Given the description of an element on the screen output the (x, y) to click on. 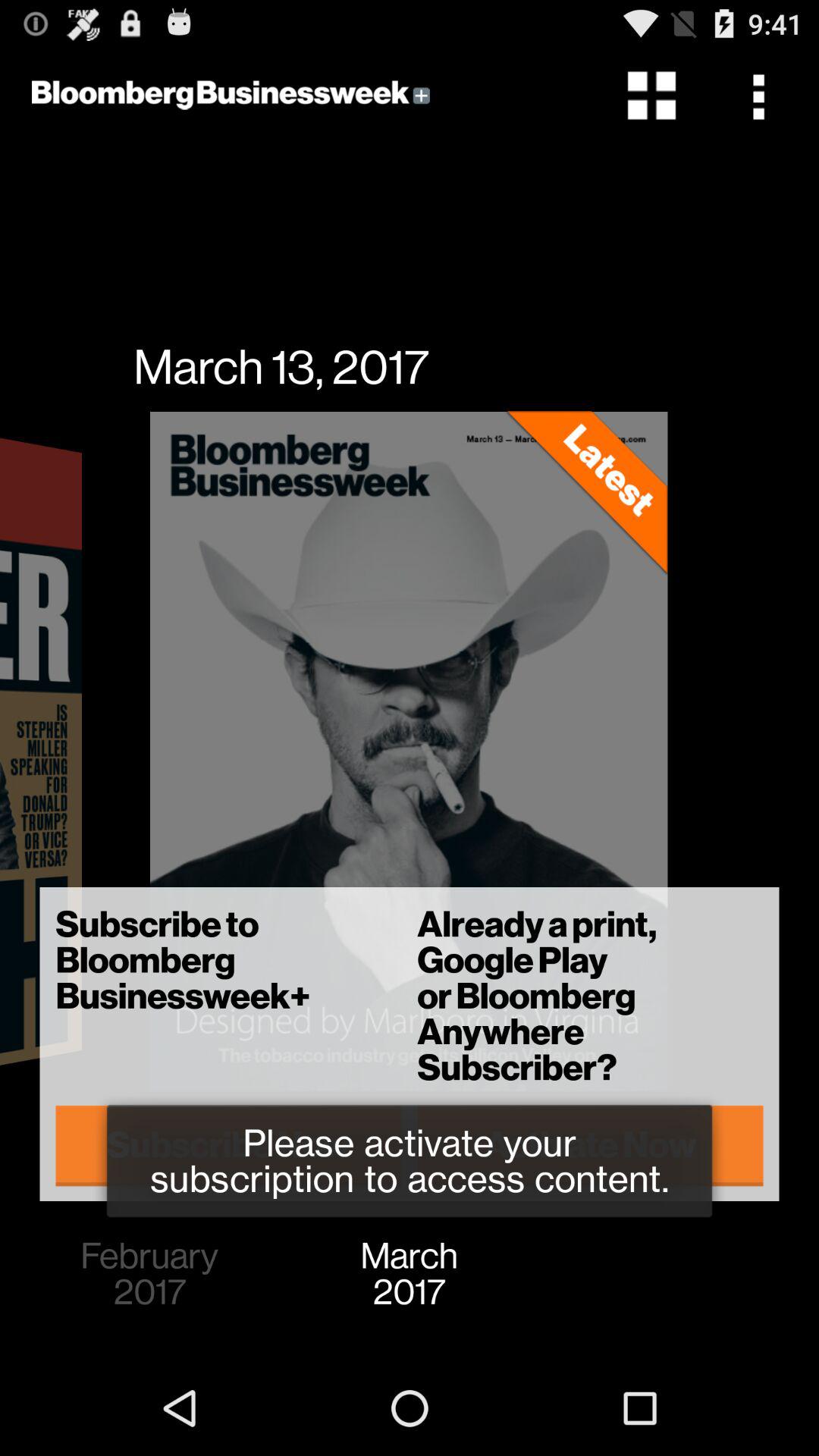
launch subscribe now (228, 1145)
